Given the description of an element on the screen output the (x, y) to click on. 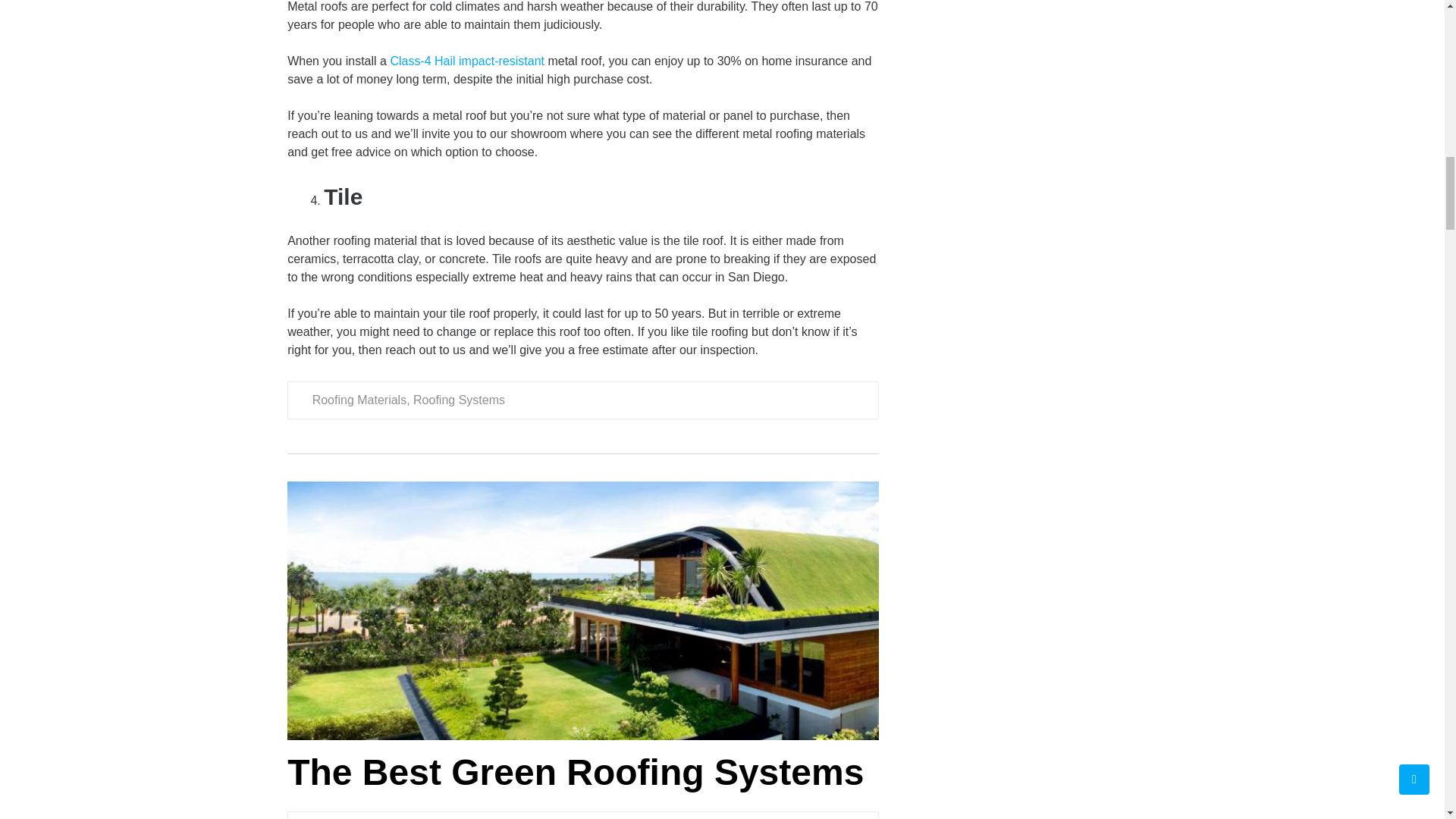
The Best Green Roofing Systems (574, 772)
Roofing Materials (360, 399)
Class-4 Hail impact-resistant (467, 60)
Roofing Systems (459, 399)
